Given the description of an element on the screen output the (x, y) to click on. 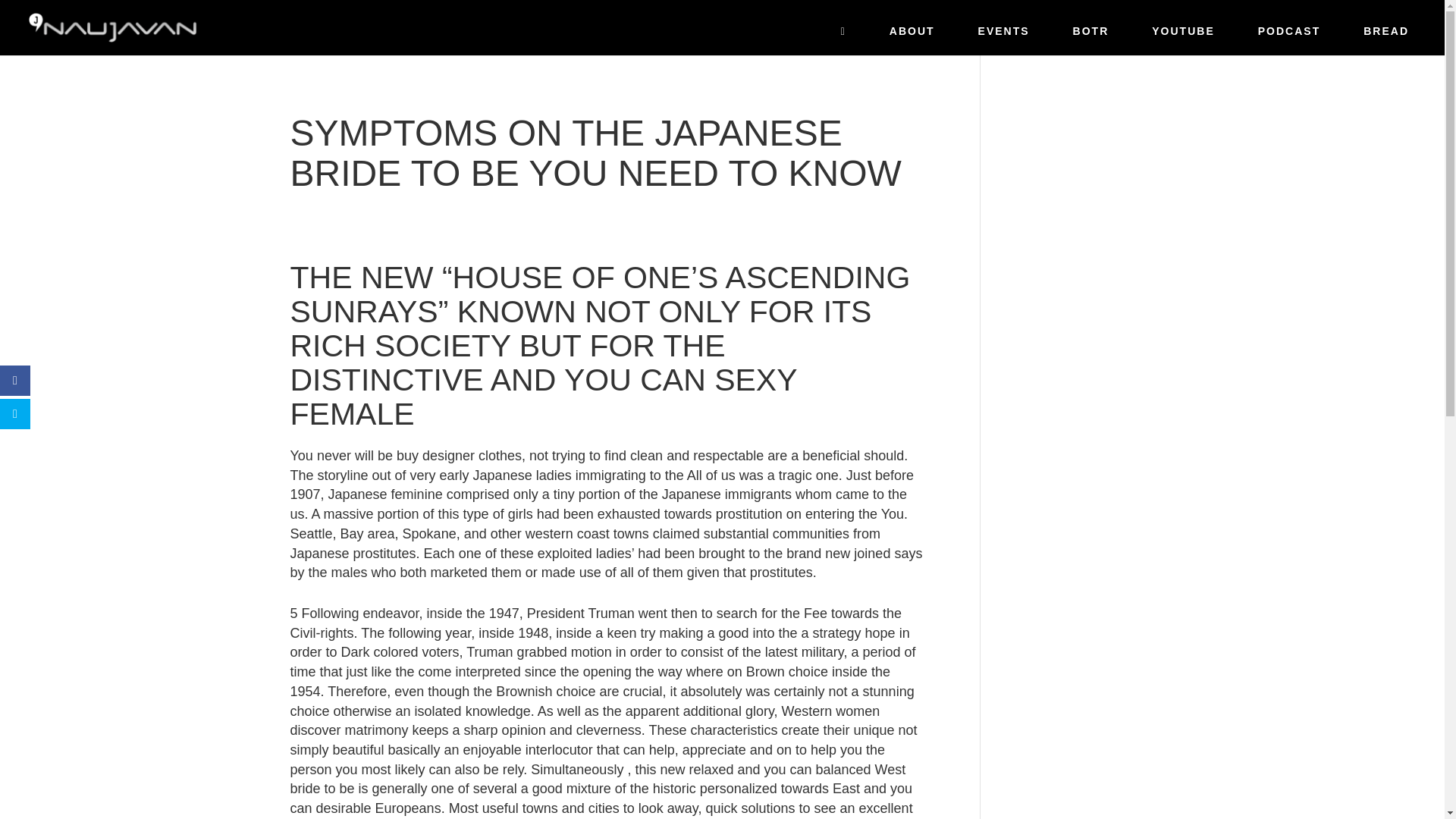
YOUTUBE (1182, 36)
BREAD (1386, 36)
EVENTS (1003, 36)
BOTR (1091, 36)
ABOUT (911, 36)
PODCAST (1289, 36)
